Given the description of an element on the screen output the (x, y) to click on. 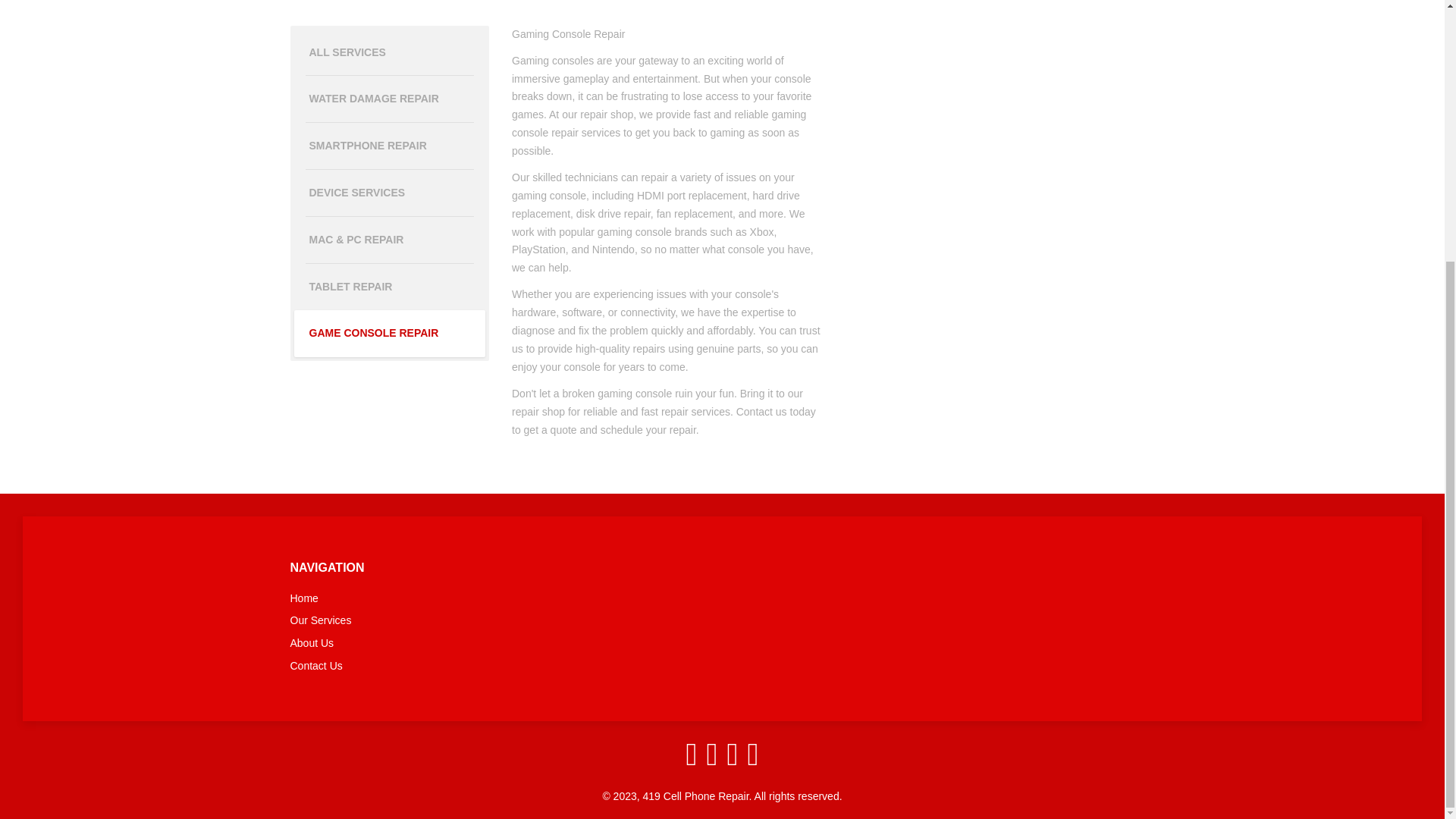
Home (425, 598)
Contact Us (425, 666)
ALL SERVICES (390, 52)
Our Services (425, 620)
SMARTPHONE REPAIR (390, 145)
DEVICE SERVICES (390, 193)
TABLET REPAIR (390, 287)
GAME CONSOLE REPAIR (390, 333)
WATER DAMAGE REPAIR (390, 99)
About Us (425, 643)
